Given the description of an element on the screen output the (x, y) to click on. 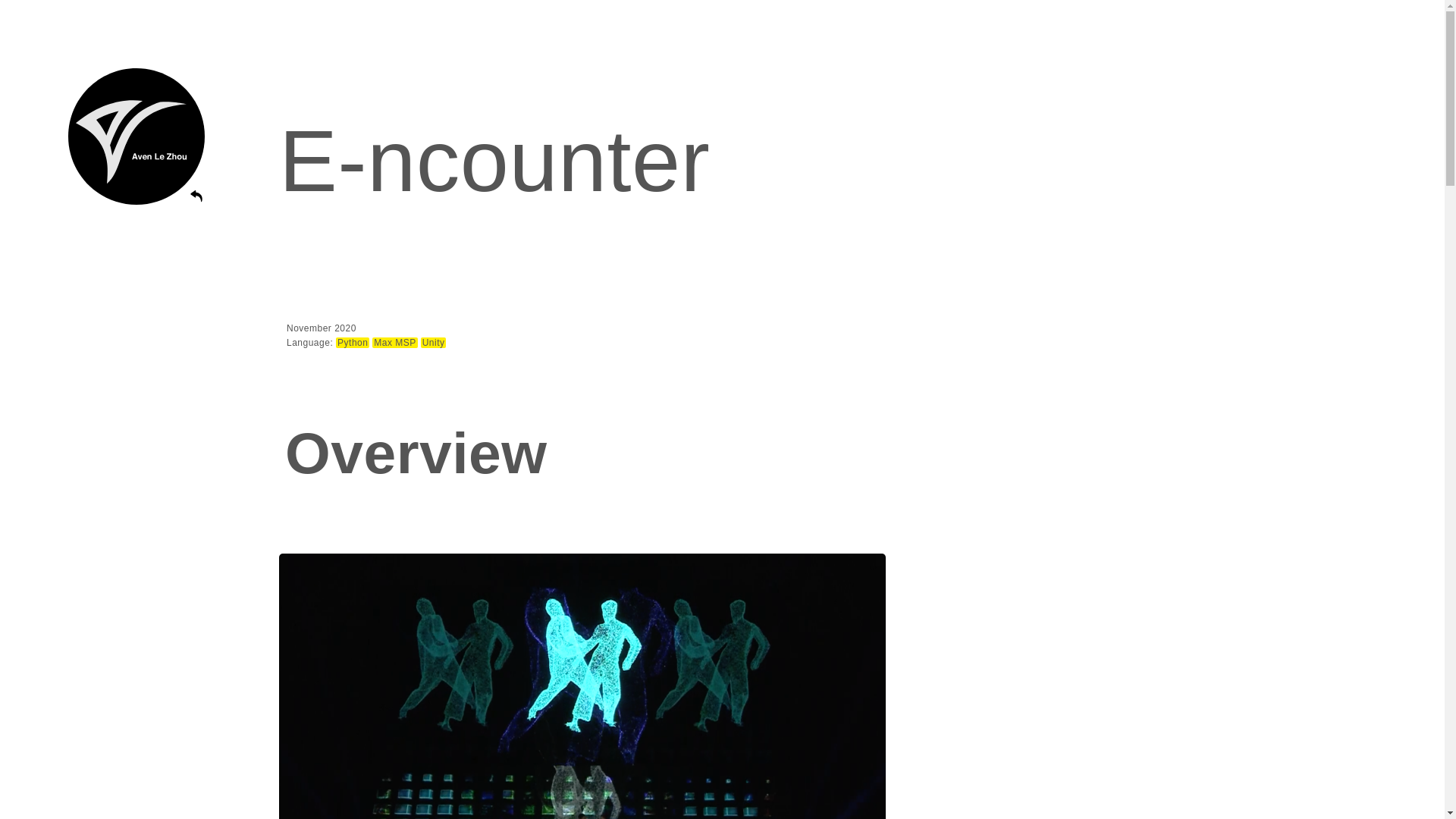
e = Professorship Element type: text (136, 378)
Python Element type: text (352, 342)
a = Practice Element type: text (136, 263)
n = Entrepreneurship
(postponed) Element type: text (140, 463)
Max MSP Element type: text (394, 342)
v = Research Element type: text (136, 316)
Unity Element type: text (433, 342)
